Given the description of an element on the screen output the (x, y) to click on. 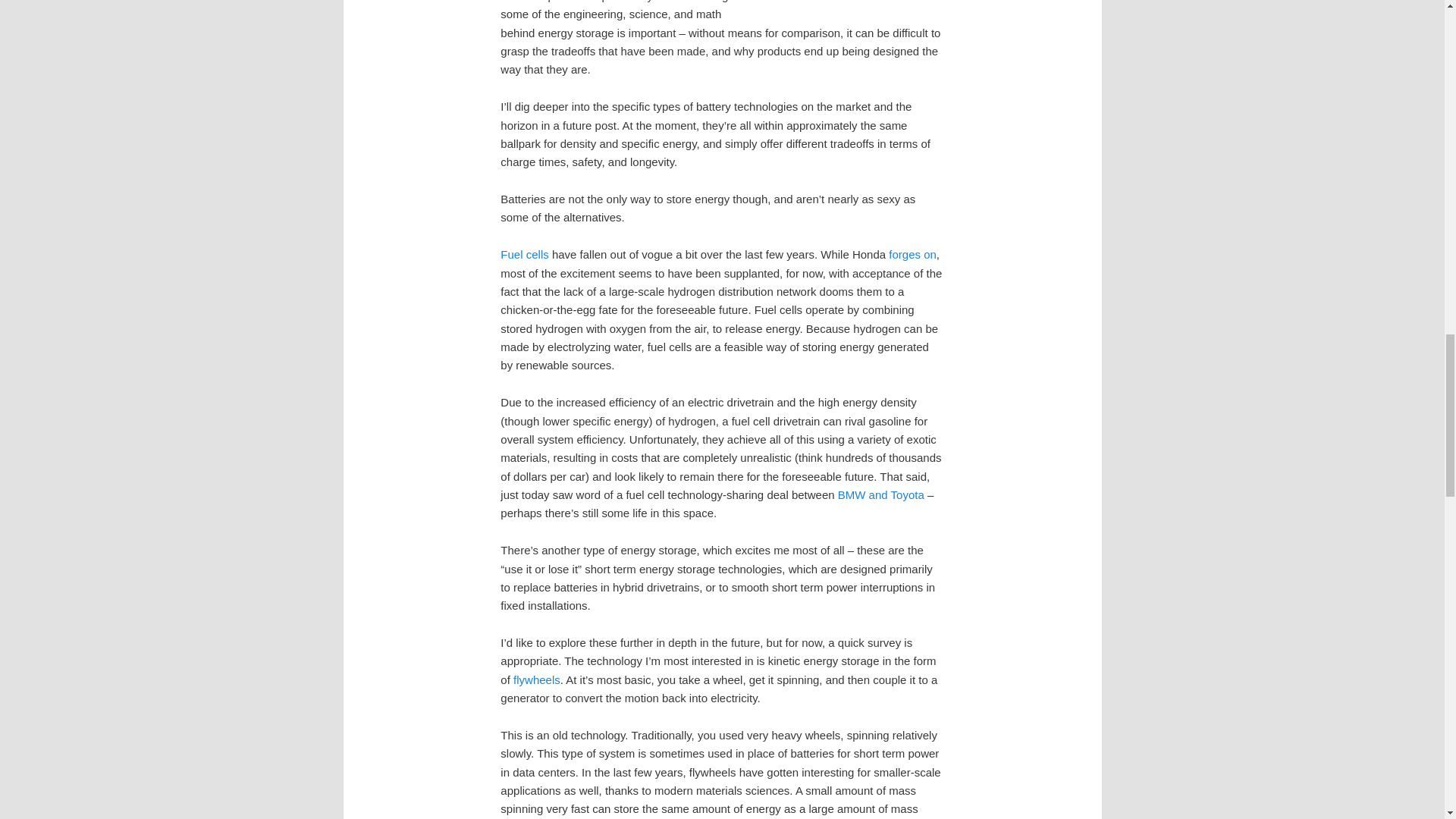
BMW and Toyota (881, 494)
Fuel cells (524, 254)
forges on (912, 254)
flywheels (536, 679)
